Given the description of an element on the screen output the (x, y) to click on. 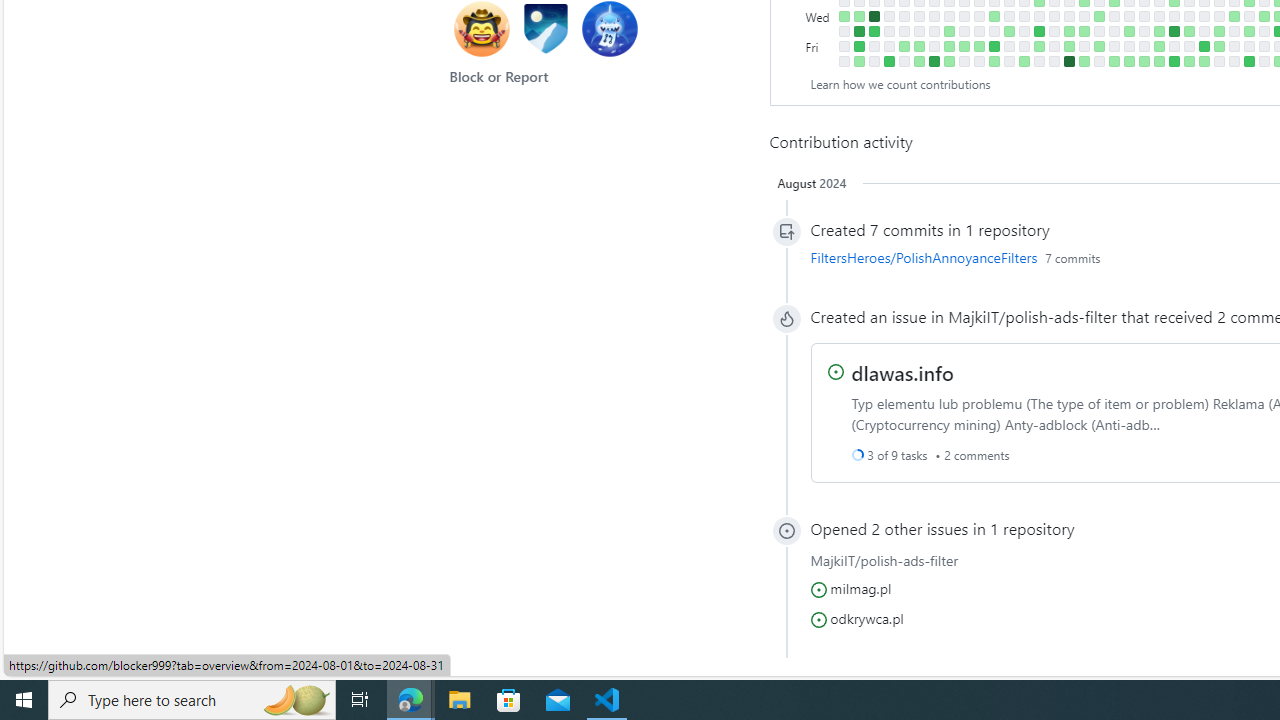
1 contribution on May 18th. (1128, 61)
3 contributions on April 27th. (1083, 61)
No contributions on July 12th. (1248, 46)
1 contribution on February 2nd. (904, 46)
No contributions on March 2nd. (963, 61)
1 contribution on May 16th. (1128, 30)
1 contribution on June 1st. (1158, 61)
4 contributions on January 27th. (888, 61)
2 contributions on April 18th. (1068, 30)
12 contributions on April 20th. (1068, 61)
7 contributions on January 11th. (858, 30)
3 contributions on June 15th. (1188, 61)
No contributions on April 12th. (1053, 46)
6 contributions on January 18th. (873, 30)
No contributions on March 22nd. (1009, 46)
